Given the description of an element on the screen output the (x, y) to click on. 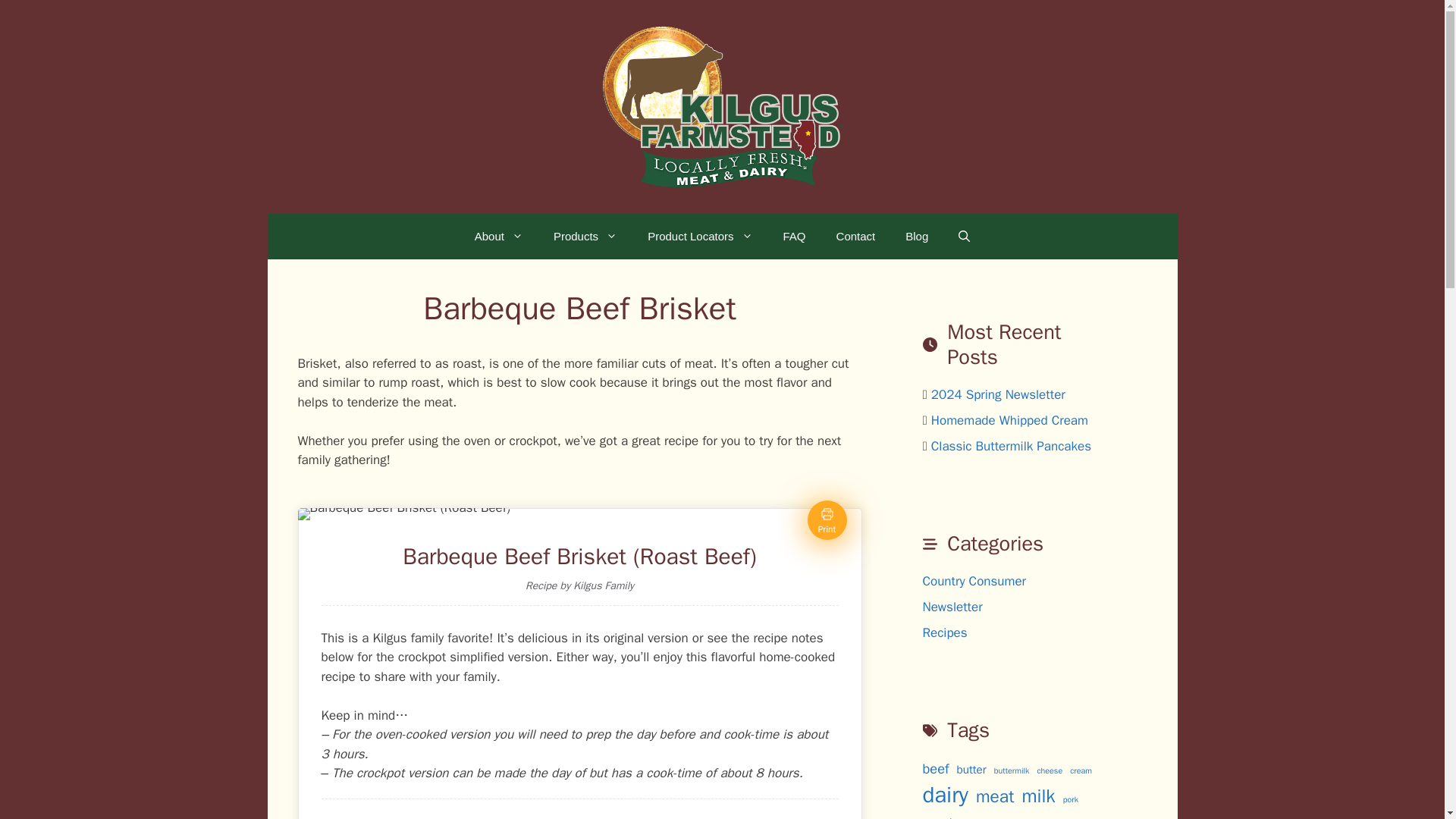
Print directions... (825, 519)
About (499, 236)
Products (584, 236)
